Given the description of an element on the screen output the (x, y) to click on. 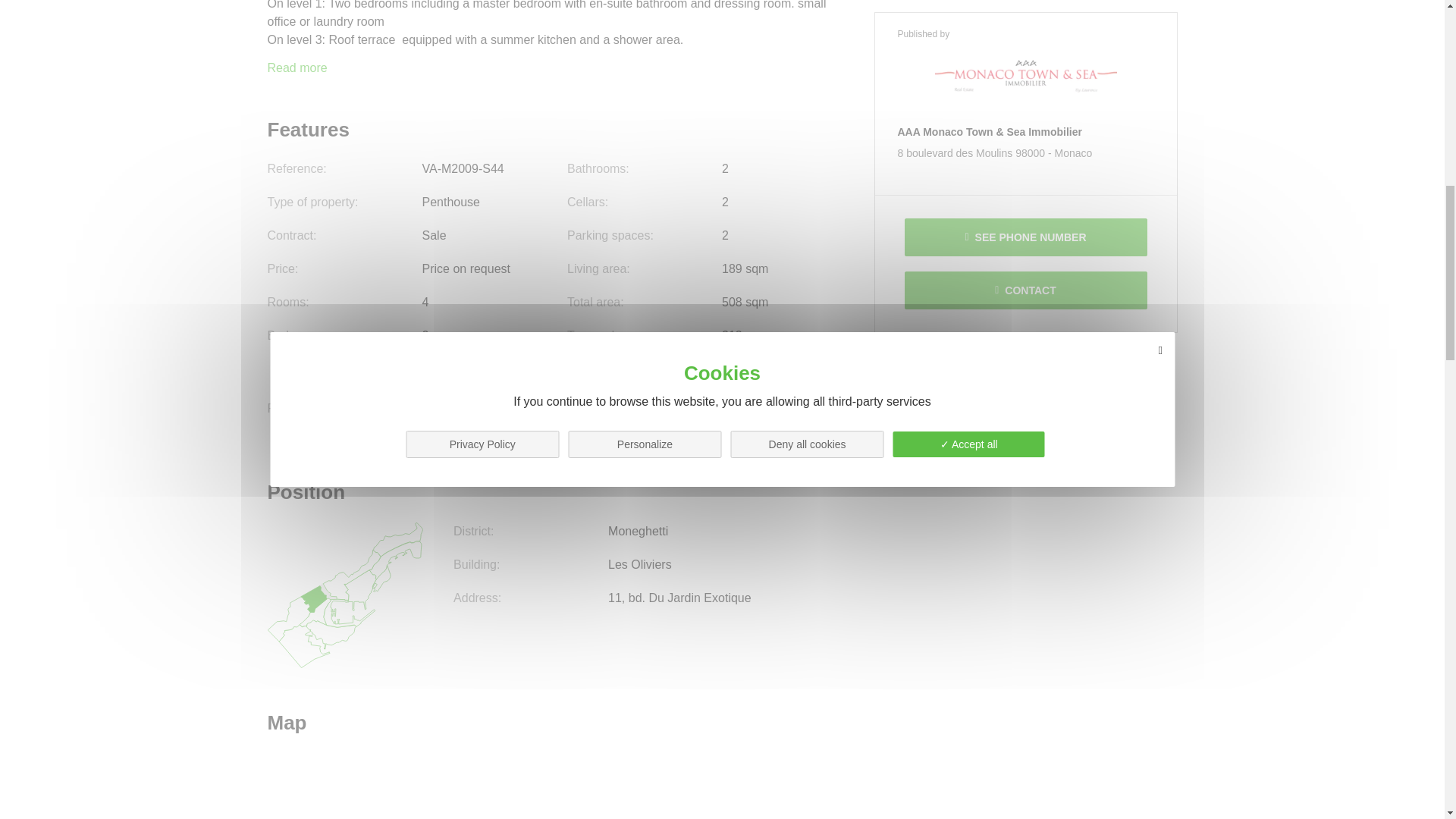
Monaco (1073, 2)
Leggi tutta la descrizione (296, 67)
